Given the description of an element on the screen output the (x, y) to click on. 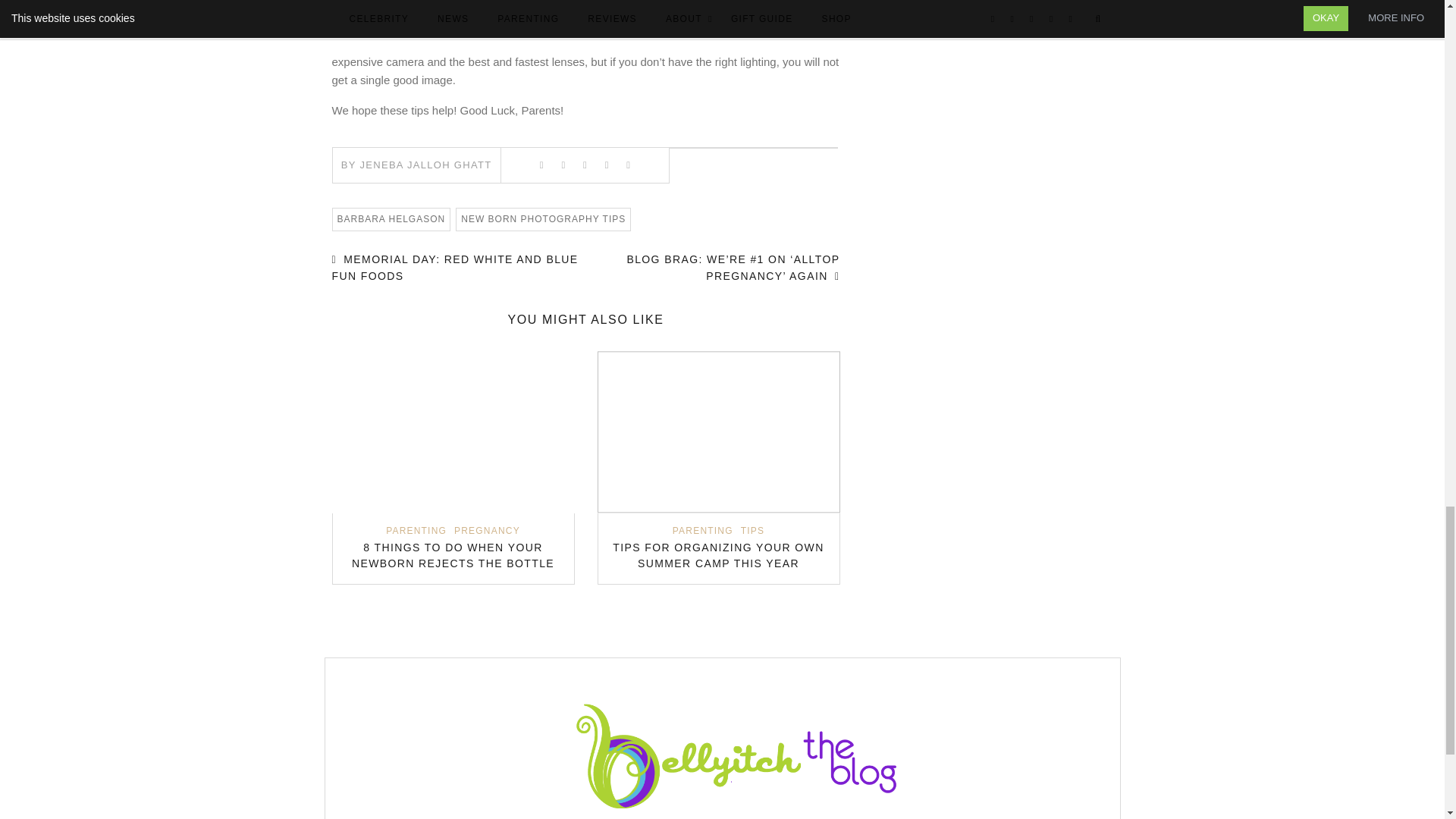
8 THINGS TO DO WHEN YOUR NEWBORN REJECTS THE BOTTLE (453, 555)
PARENTING (702, 530)
NEW BORN PHOTOGRAPHY TIPS (542, 219)
BY JENEBA JALLOH GHATT (416, 164)
BARBARA HELGASON (391, 219)
PARENTING (415, 530)
PREGNANCY (486, 530)
TIPS (752, 530)
MEMORIAL DAY: RED WHITE AND BLUE FUN FOODS (454, 267)
